Given the description of an element on the screen output the (x, y) to click on. 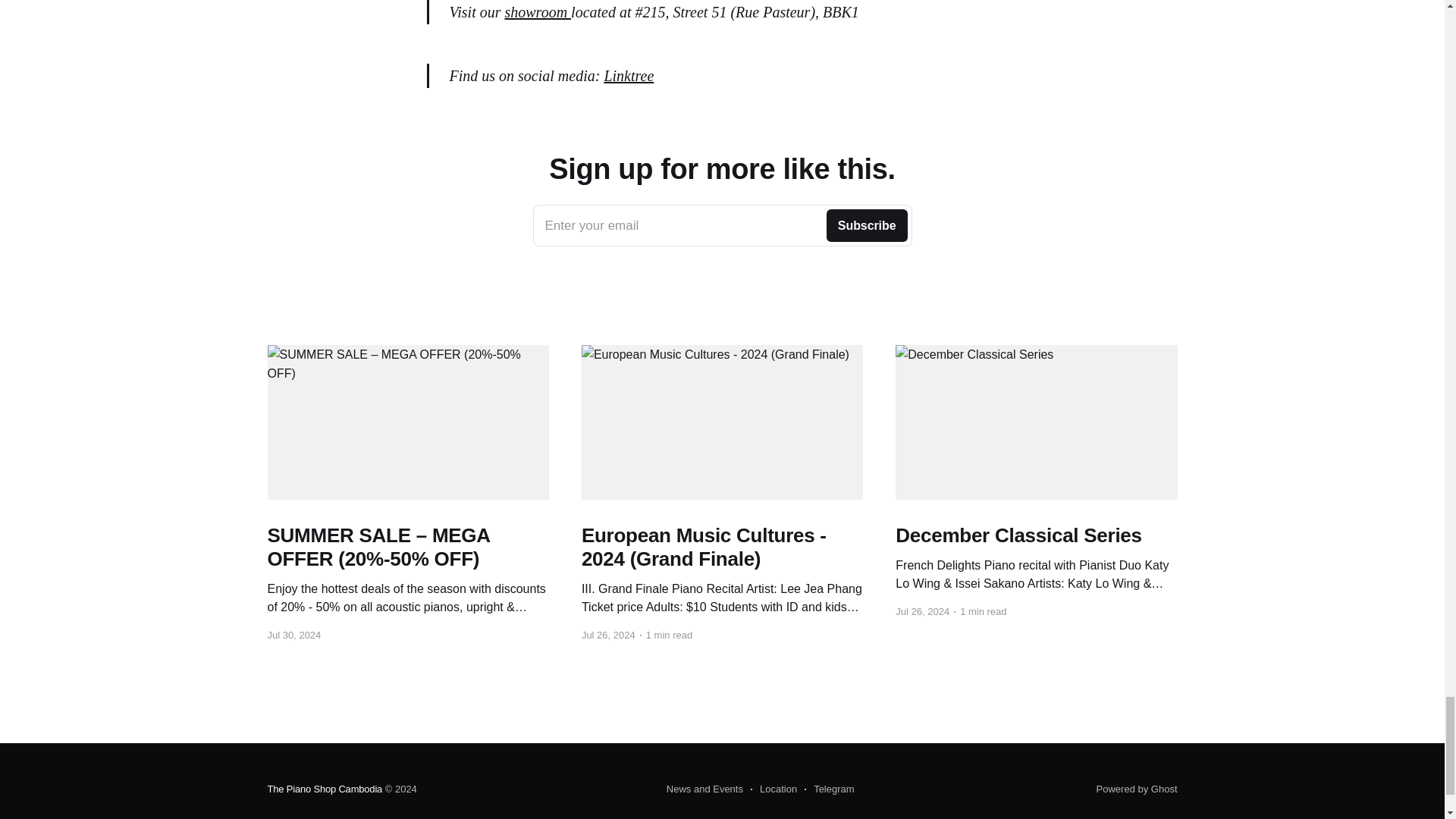
Location (773, 789)
Linktree (628, 74)
Telegram (829, 789)
Powered by Ghost (1136, 788)
News and Events (704, 789)
The Piano Shop Cambodia (721, 225)
showroom (323, 788)
